Given the description of an element on the screen output the (x, y) to click on. 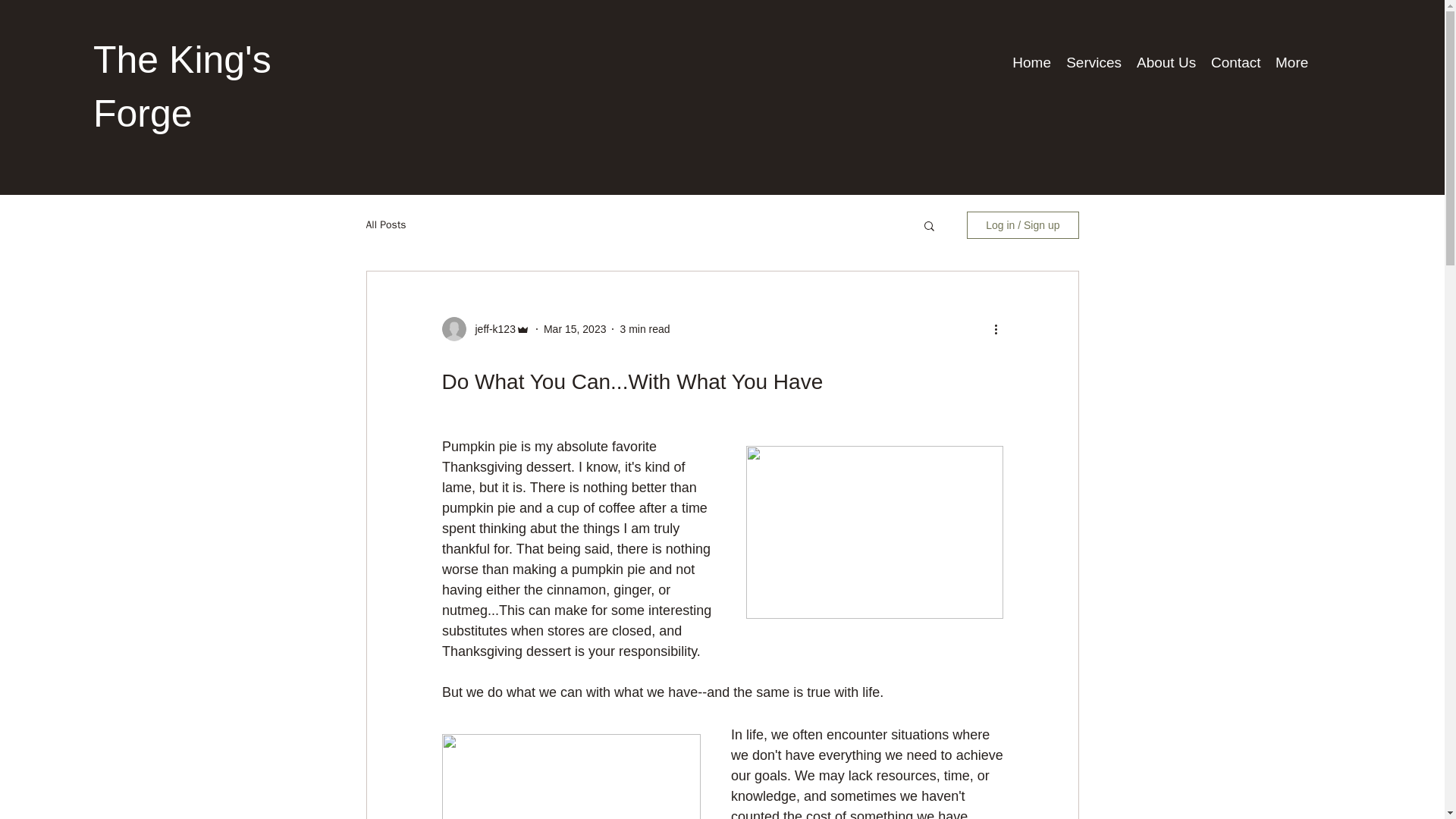
Services (1093, 60)
The King's Forge (181, 86)
All Posts (385, 224)
3 min read (644, 328)
Mar 15, 2023 (575, 328)
jeff-k123 (490, 329)
Home (1031, 60)
Contact (1236, 60)
About Us (1166, 60)
